Given the description of an element on the screen output the (x, y) to click on. 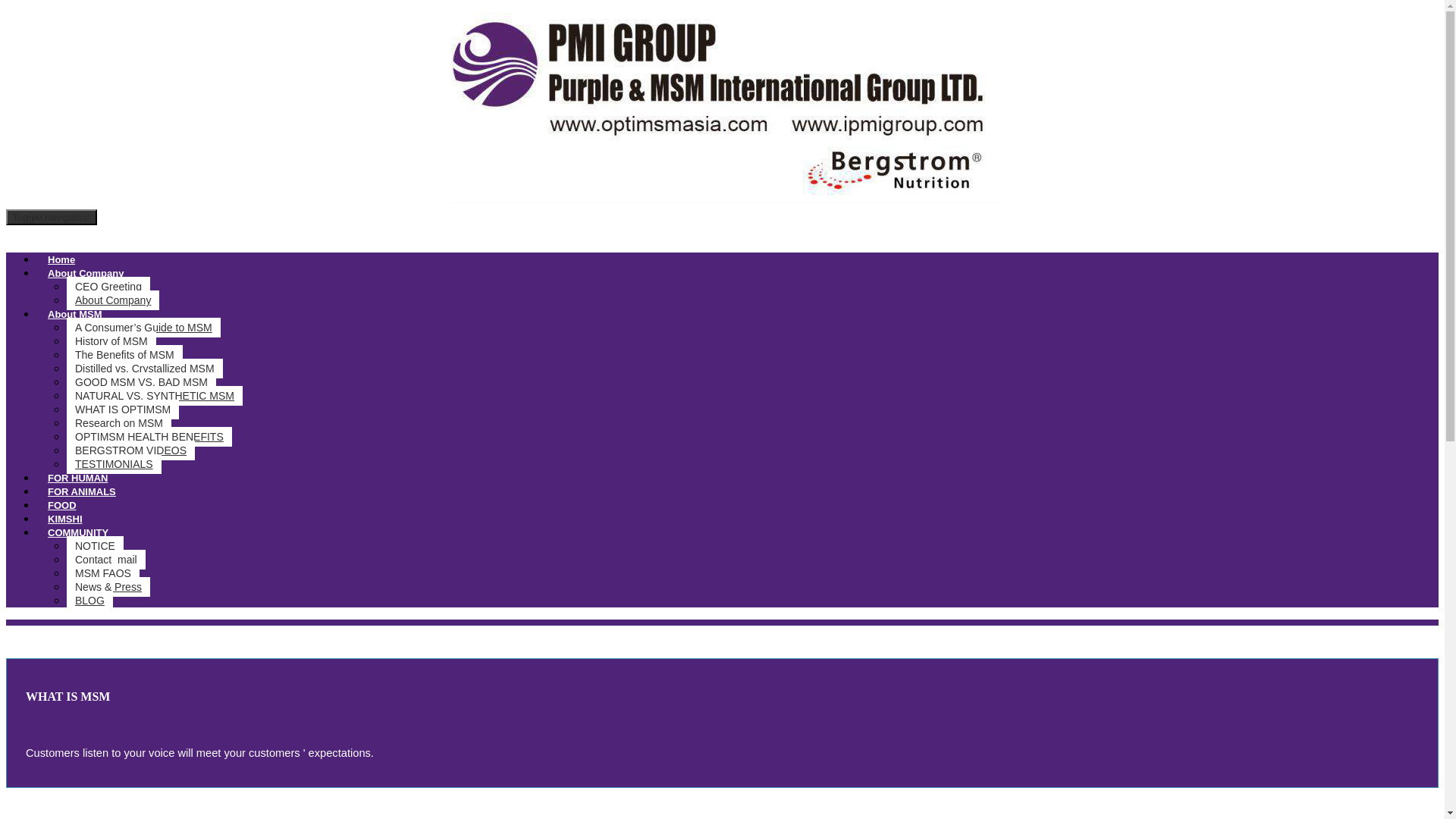
BLOG (89, 600)
FOOD (61, 505)
COMMUNITY (77, 532)
OPTIMSM HEALTH BENEFITS (148, 436)
NATURAL VS. SYNTHETIC MSM (154, 395)
History of MSM (110, 341)
FOR ANIMALS (82, 491)
GOOD MSM VS. BAD MSM (140, 382)
BERGSTROM VIDEOS (130, 450)
TESTIMONIALS (113, 464)
CEO Greeting (107, 286)
NOTICE (94, 546)
The Benefits of MSM (124, 354)
logo20191105.jpg (721, 104)
KIMSHI (65, 519)
